Given the description of an element on the screen output the (x, y) to click on. 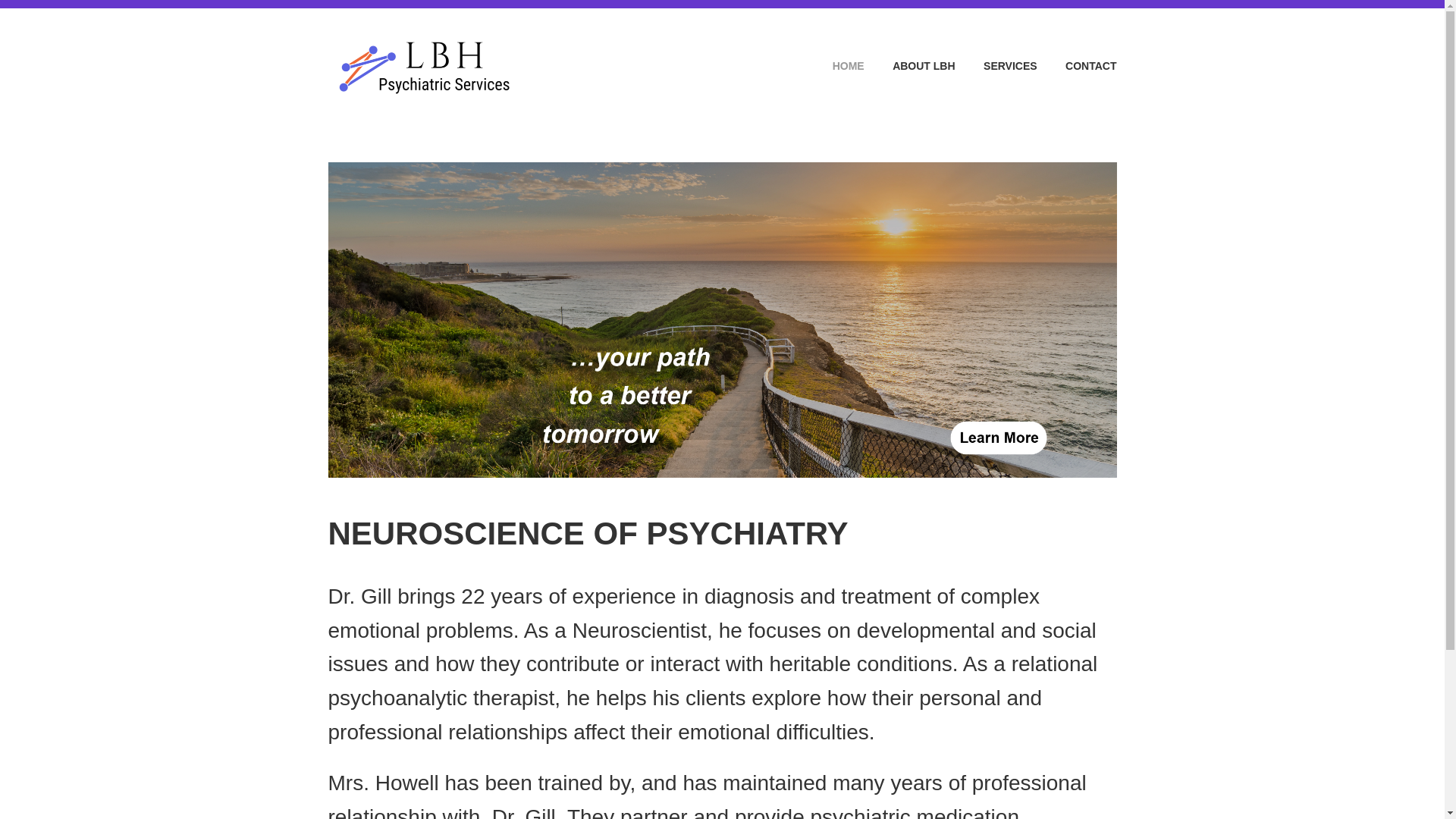
ABOUT LBH (911, 65)
HOME (835, 65)
MYLBH.COM (625, 43)
CONTACT (1078, 65)
SERVICES (997, 65)
